Given the description of an element on the screen output the (x, y) to click on. 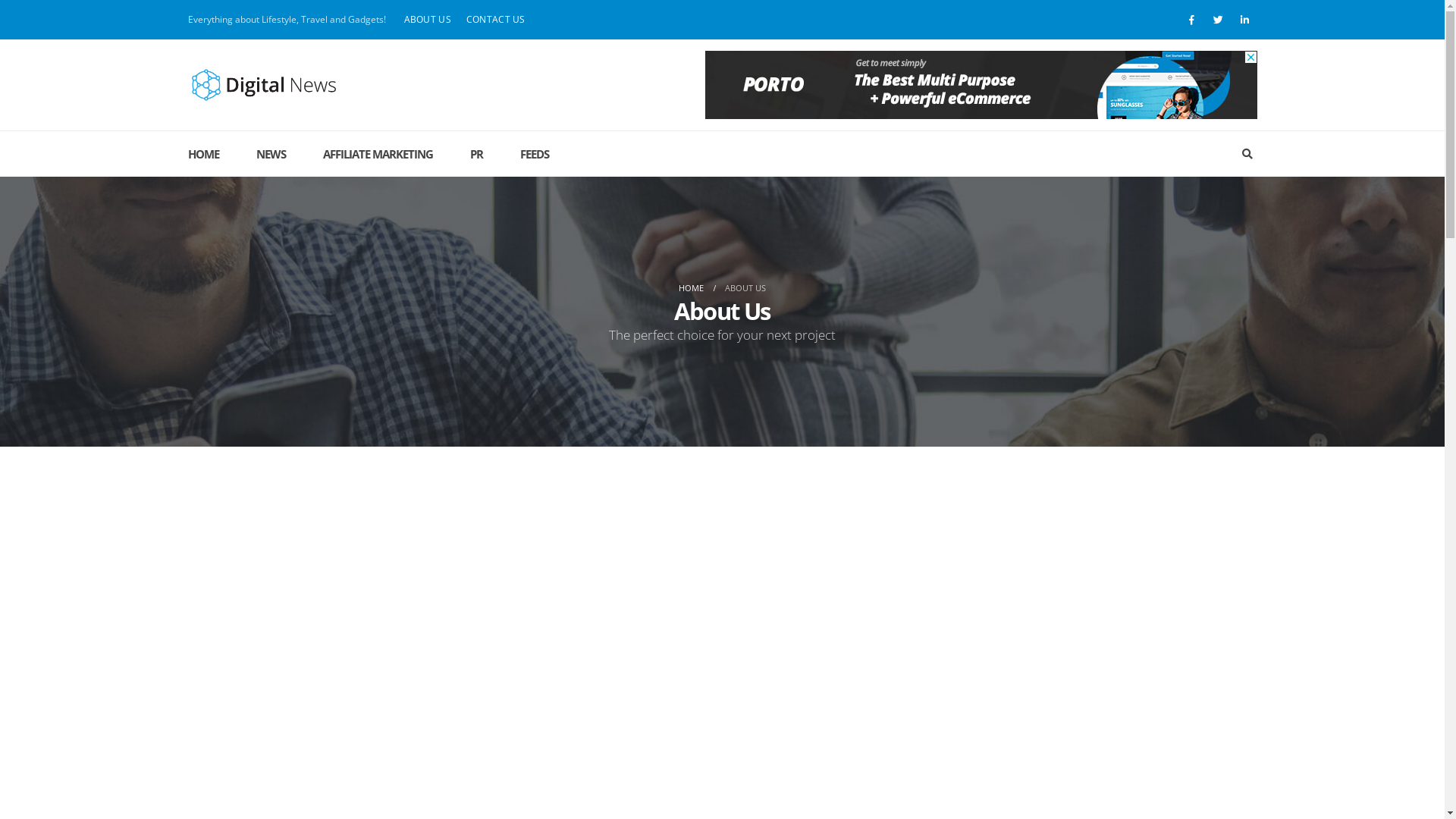
PR Element type: text (476, 153)
Twitter Element type: hover (1218, 19)
LinkedIn Element type: hover (1244, 19)
HOME Element type: text (690, 288)
NEWS Element type: text (271, 153)
AFFILIATE MARKETING Element type: text (377, 153)
ABOUT US Element type: text (426, 19)
HOME Element type: text (212, 153)
CONTACT US Element type: text (495, 19)
Facebook Element type: hover (1190, 19)
FEEDS Element type: text (534, 153)
